Given the description of an element on the screen output the (x, y) to click on. 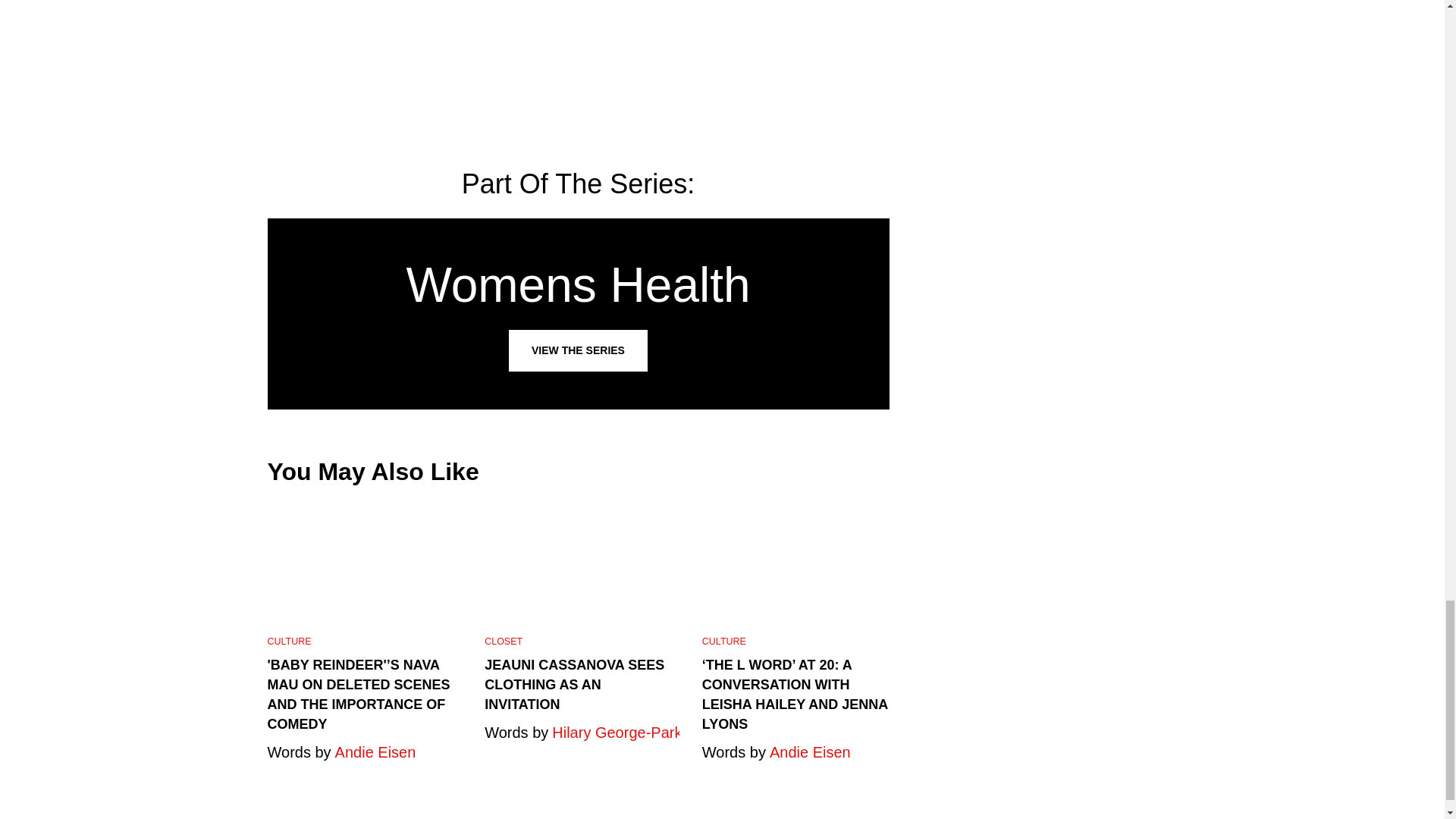
Womens Health (577, 313)
